Given the description of an element on the screen output the (x, y) to click on. 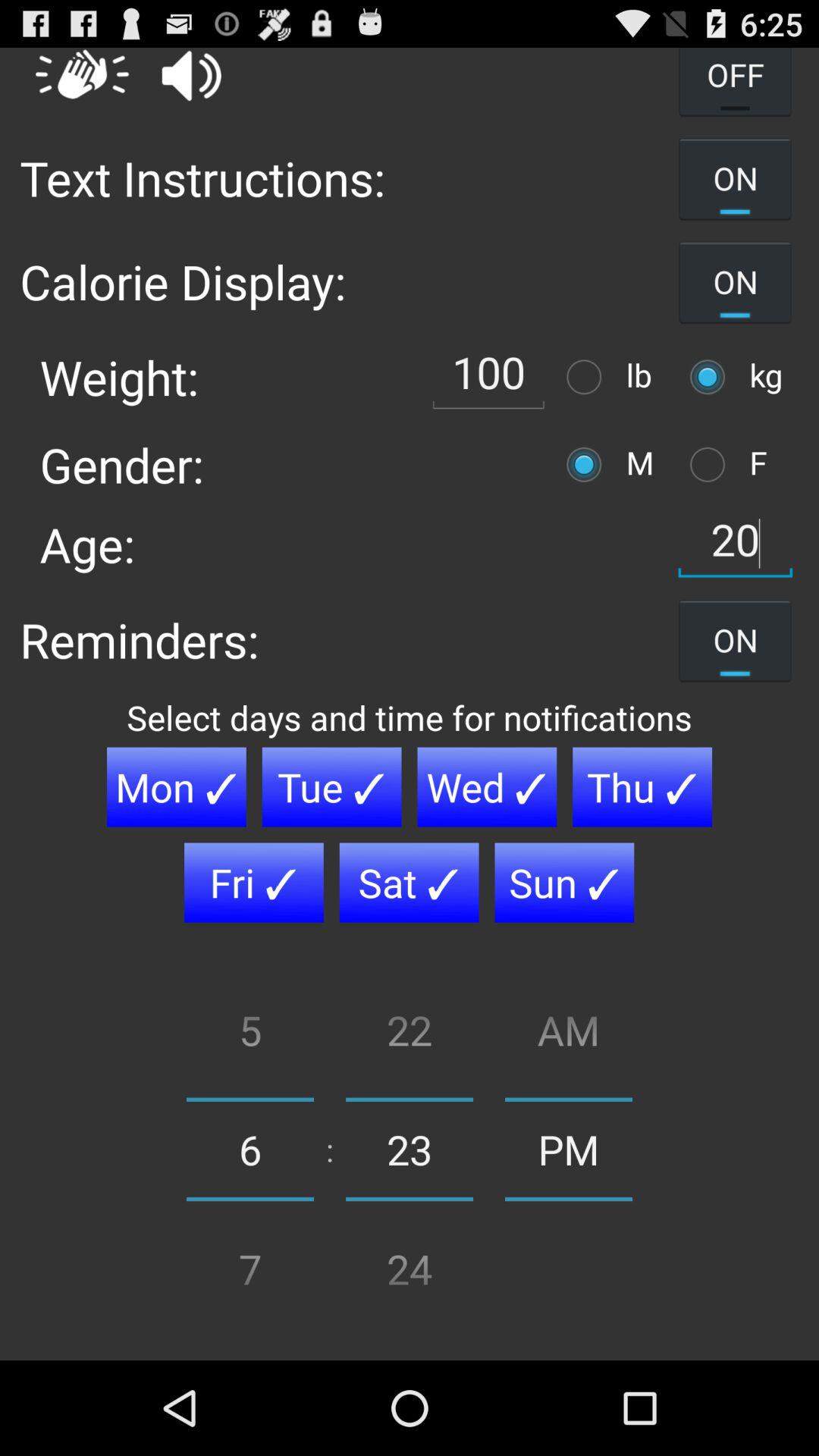
select pounds (587, 376)
